Given the description of an element on the screen output the (x, y) to click on. 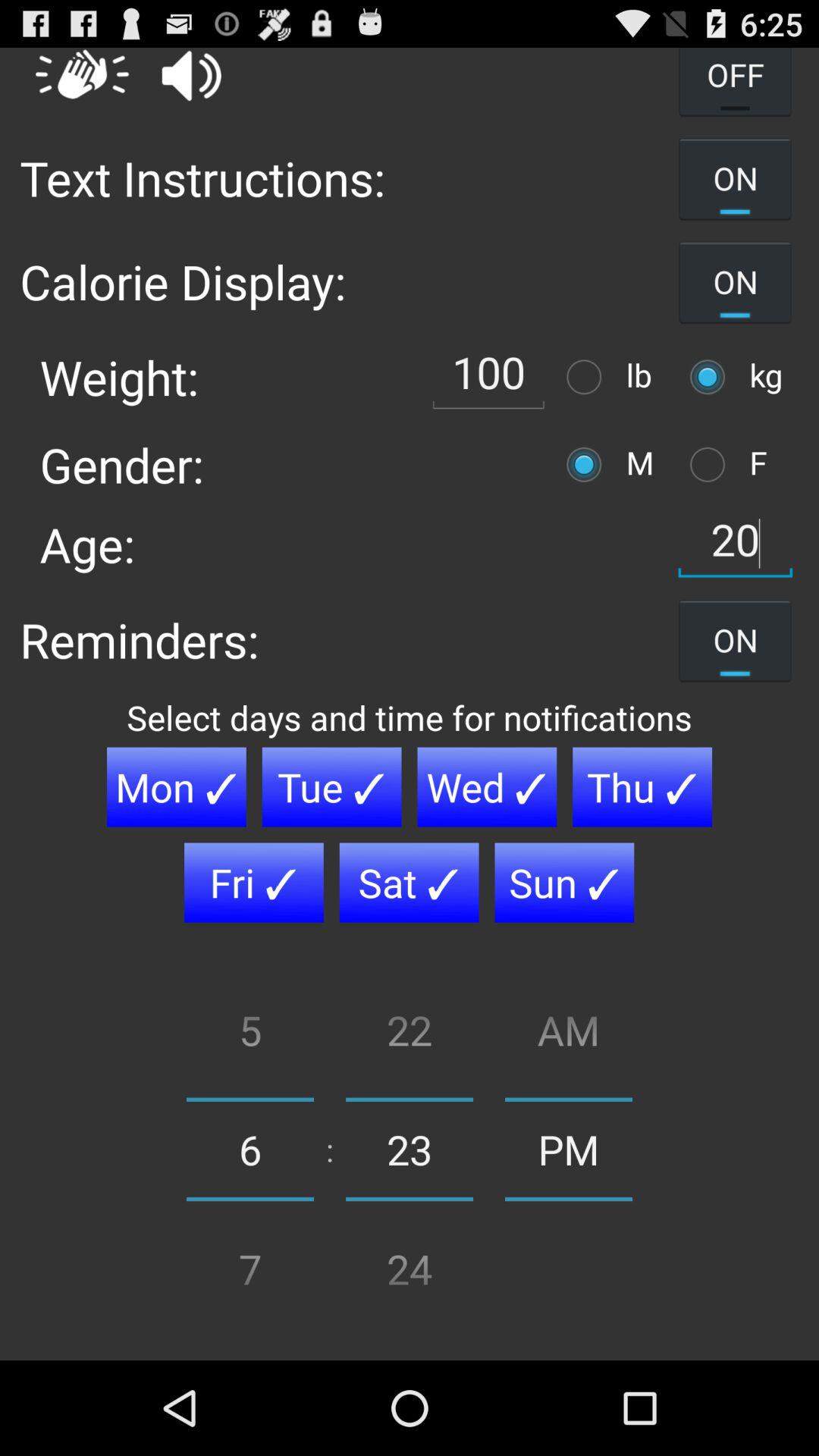
select pounds (587, 376)
